Given the description of an element on the screen output the (x, y) to click on. 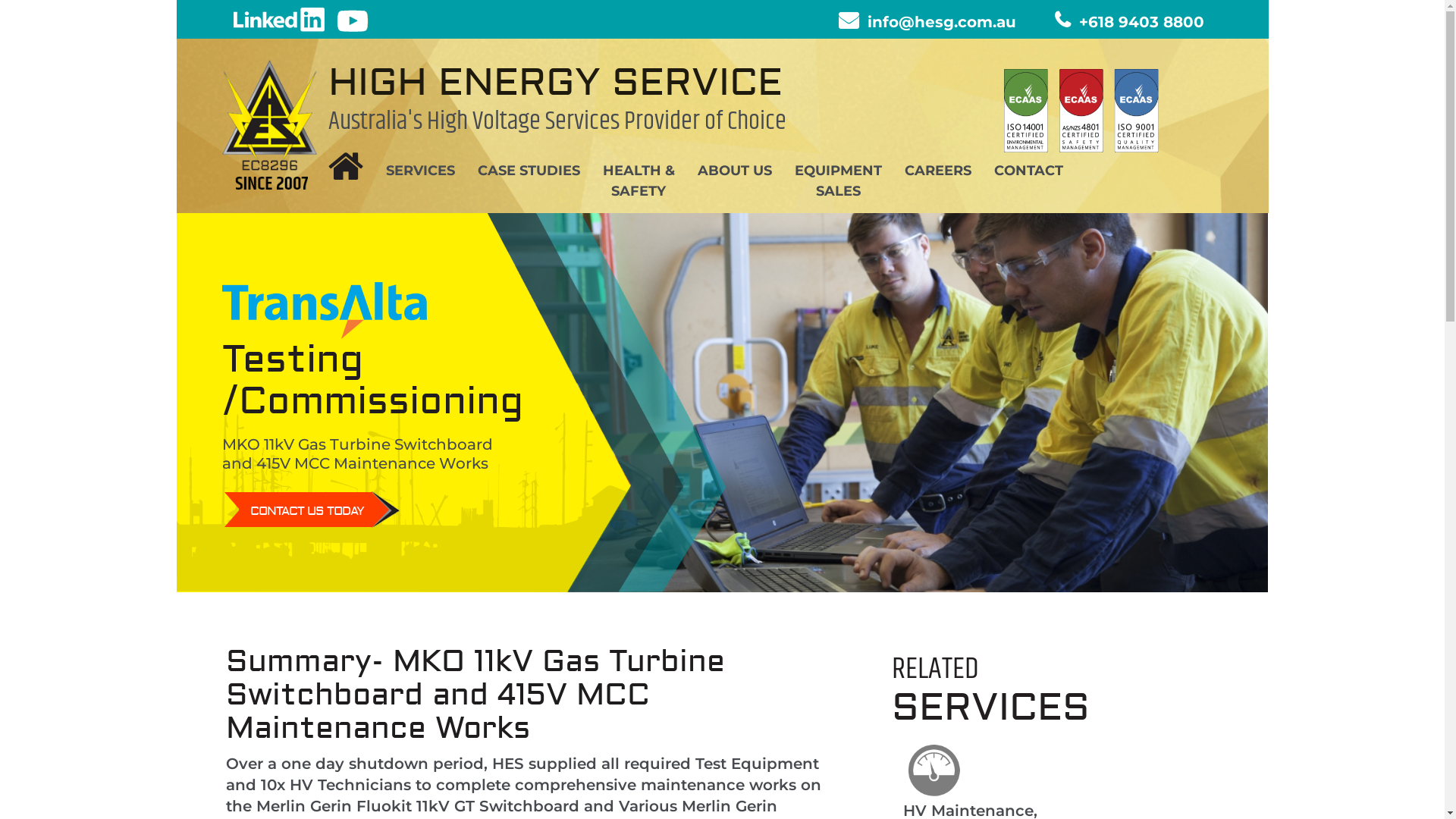
EQUIPMENT
SALES Element type: text (837, 180)
CAREERS Element type: text (936, 170)
CONTACT Element type: text (1027, 170)
CONTACT US TODAY Element type: text (304, 509)
CASE STUDIES Element type: text (528, 170)
HEALTH &
SAFETY Element type: text (638, 180)
ABOUT US Element type: text (734, 170)
SERVICES Element type: text (419, 170)
info@hesg.com.au Element type: text (927, 21)
+618 9403 8800 Element type: text (1128, 21)
